Given the description of an element on the screen output the (x, y) to click on. 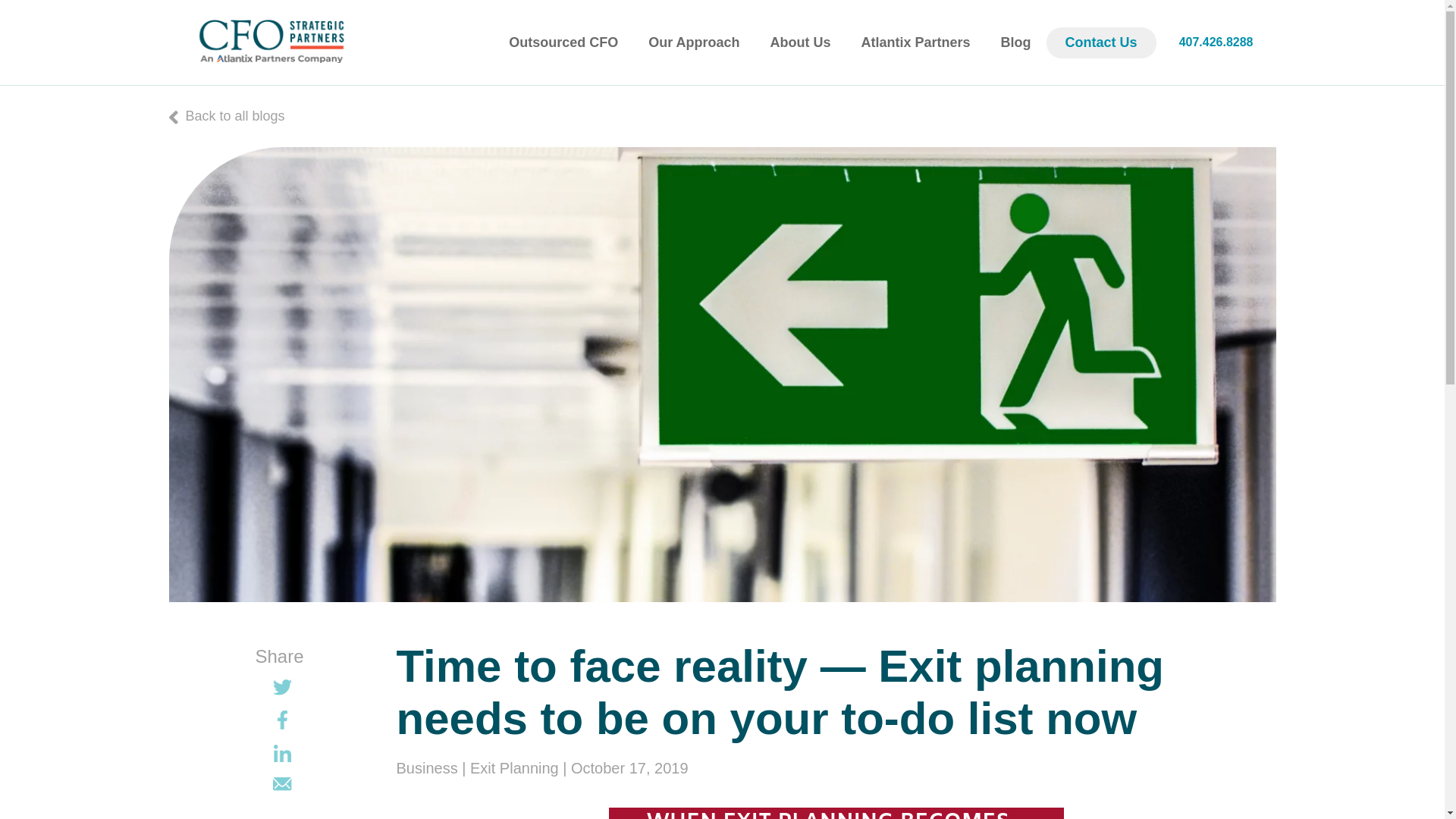
Blog (1015, 42)
About Us (800, 42)
Contact Us (1101, 42)
Back to all blogs (225, 115)
Our Approach (693, 42)
407.426.8288 (1216, 41)
Atlantix Partners (915, 42)
Outsourced CFO (563, 42)
